Given the description of an element on the screen output the (x, y) to click on. 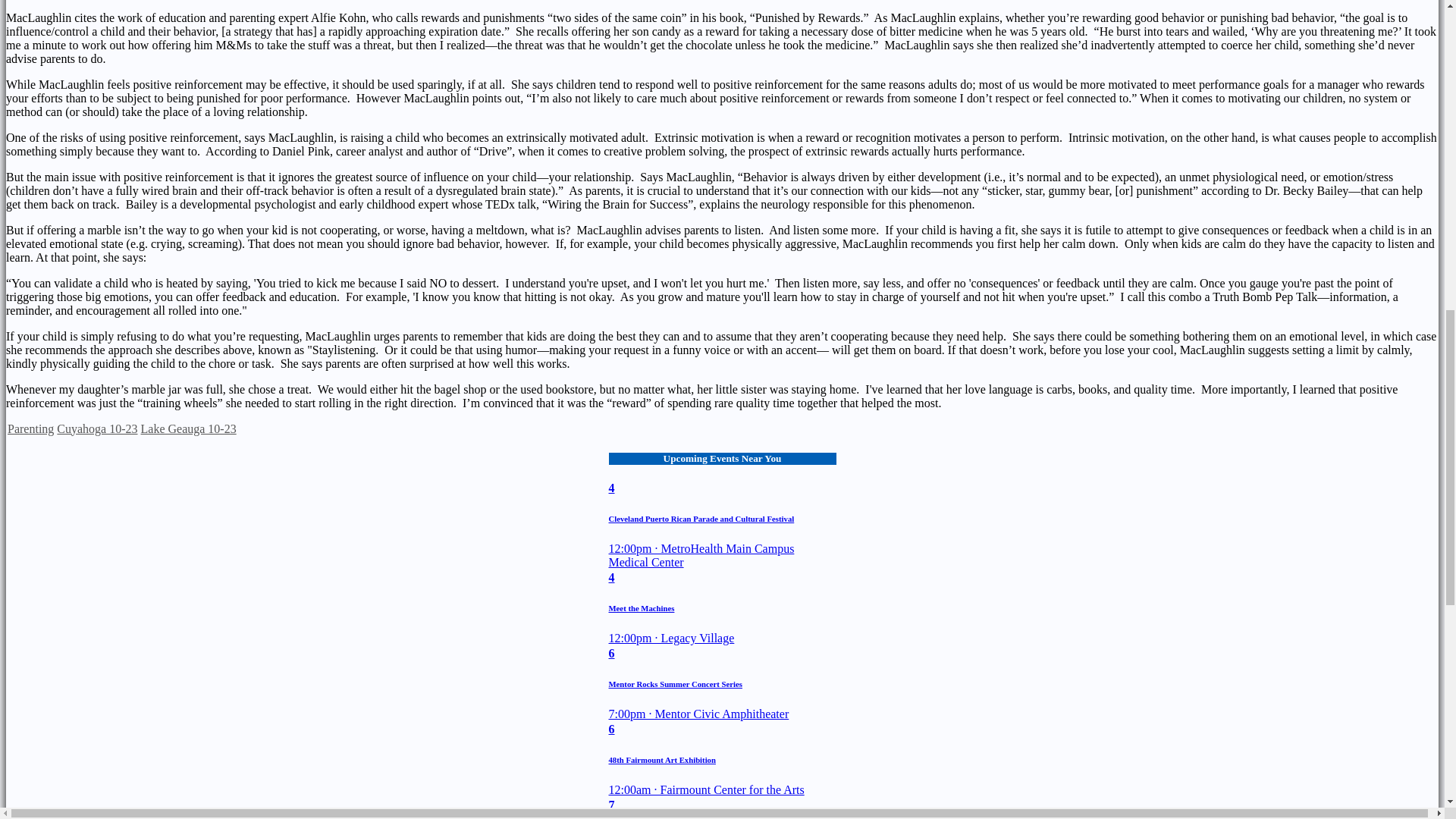
Lake Geauga 10-23 (188, 428)
Cuyahoga 10-23 (96, 428)
Parenting (30, 428)
